Given the description of an element on the screen output the (x, y) to click on. 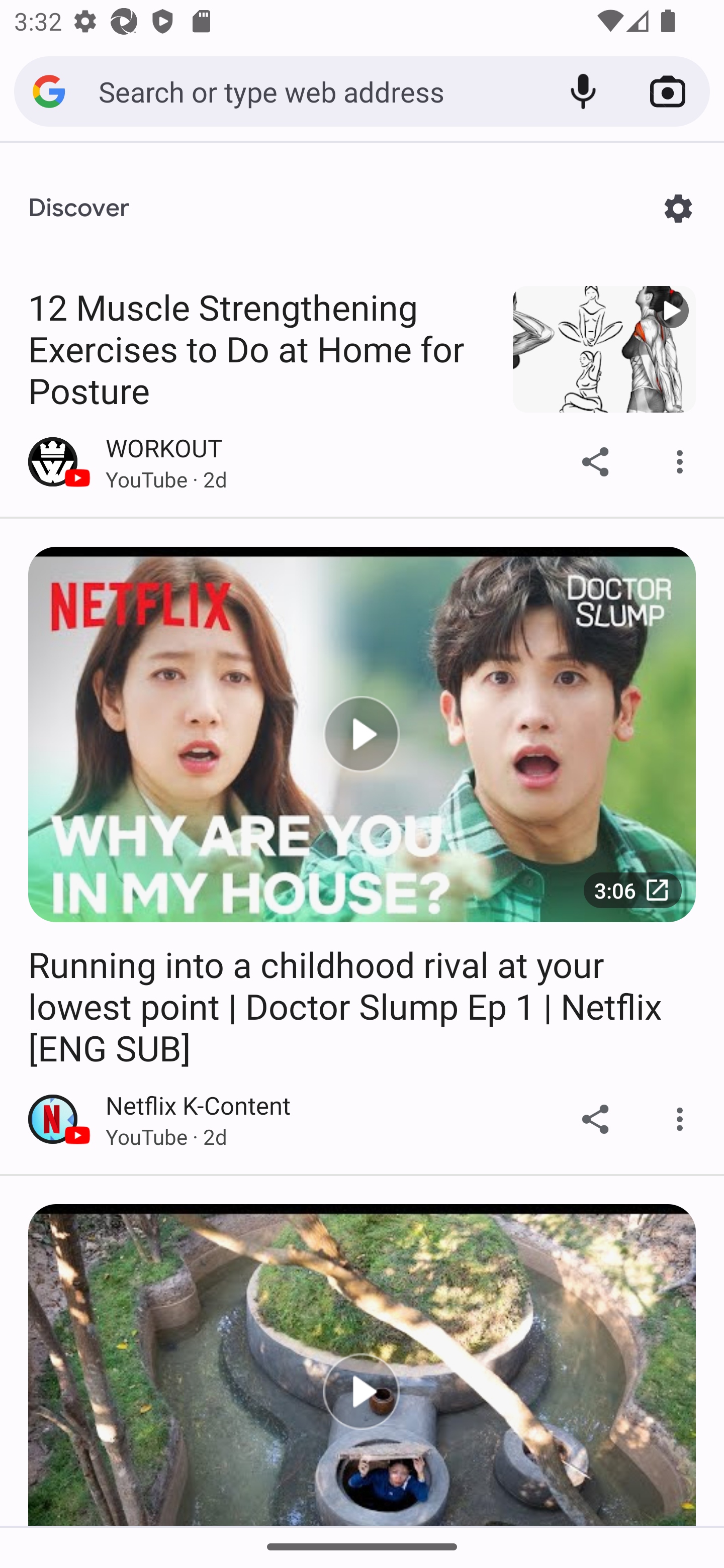
Start voice search (582, 91)
Search with your camera using Google Lens (667, 91)
Search or type web address (319, 90)
Options for Discover (677, 208)
